Given the description of an element on the screen output the (x, y) to click on. 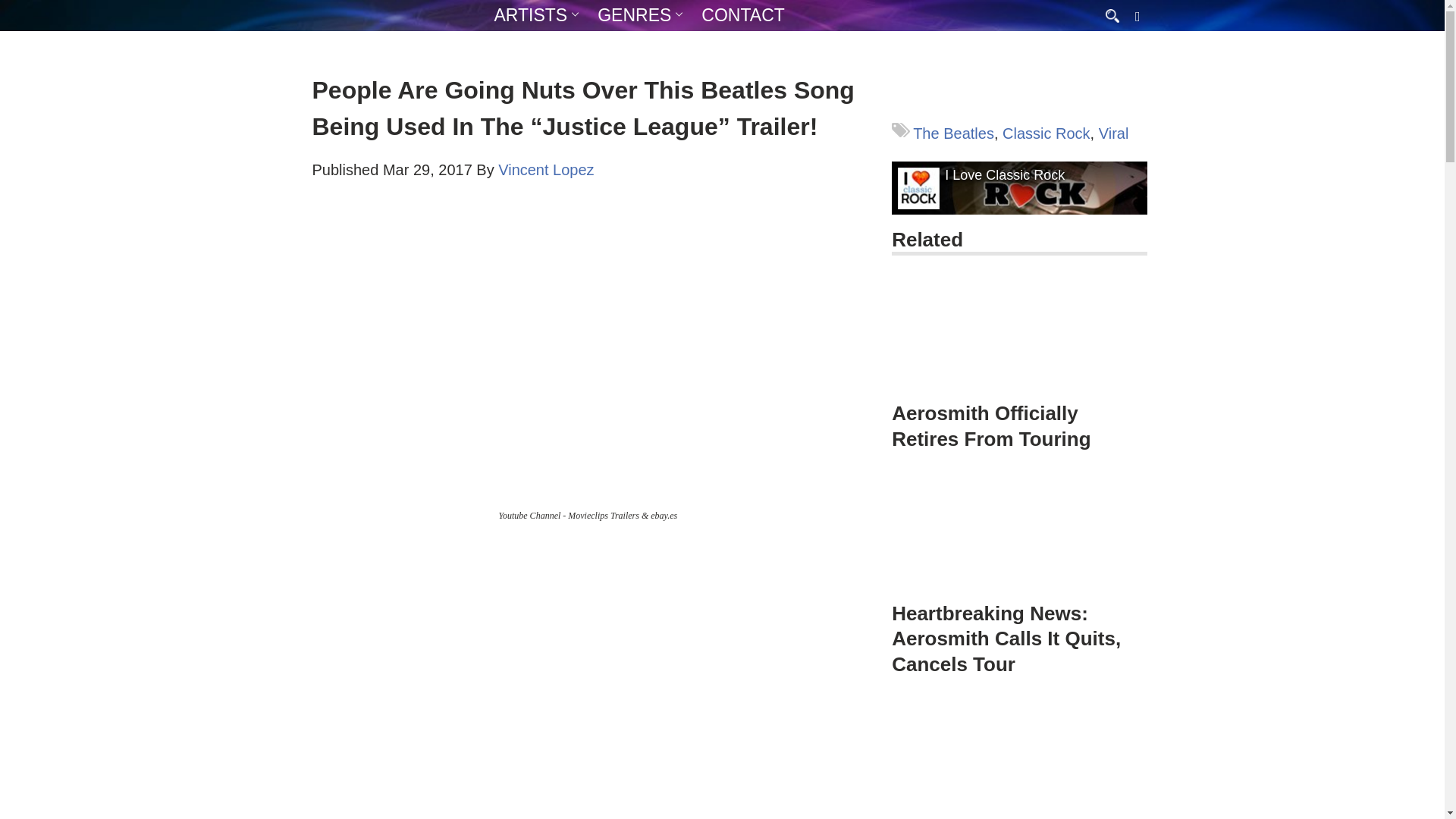
Search (15, 6)
ABOUT (577, 45)
7 Memorable Classic Rock Stage Accidents (1019, 758)
Heartbreaking News: Aerosmith Calls It Quits, Cancels Tour (1019, 534)
Aerosmith Officially Retires From Touring (1019, 333)
ARTISTS (531, 15)
GENRES (633, 15)
Aerosmith Officially Retires From Touring (1019, 344)
Aerosmith Officially Retires From Touring (990, 426)
Heartbreaking News: Aerosmith Calls It Quits, Cancels Tour (1019, 558)
